Given the description of an element on the screen output the (x, y) to click on. 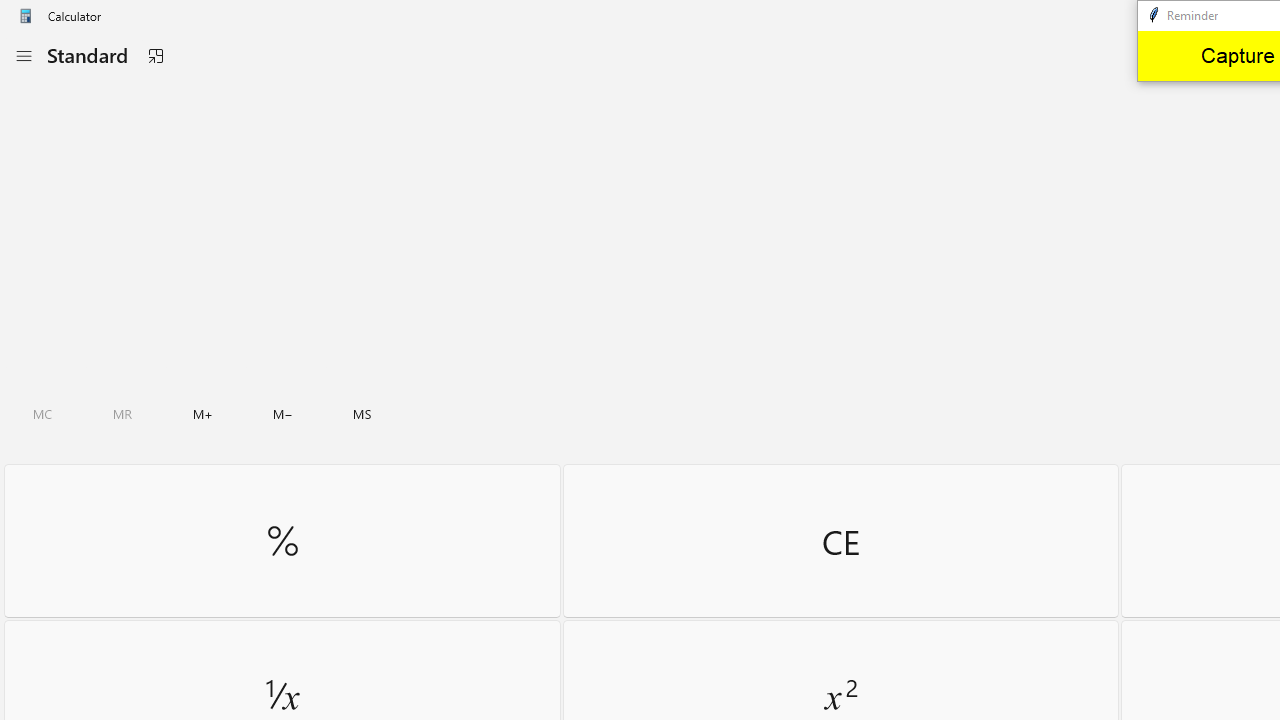
Percent (281, 540)
Memory store (362, 414)
Memory recall (123, 414)
Clear all memory (42, 414)
Keep on top (155, 56)
Open Navigation (23, 56)
Memory add (202, 414)
Clear entry (840, 540)
Memory subtract (283, 414)
